Given the description of an element on the screen output the (x, y) to click on. 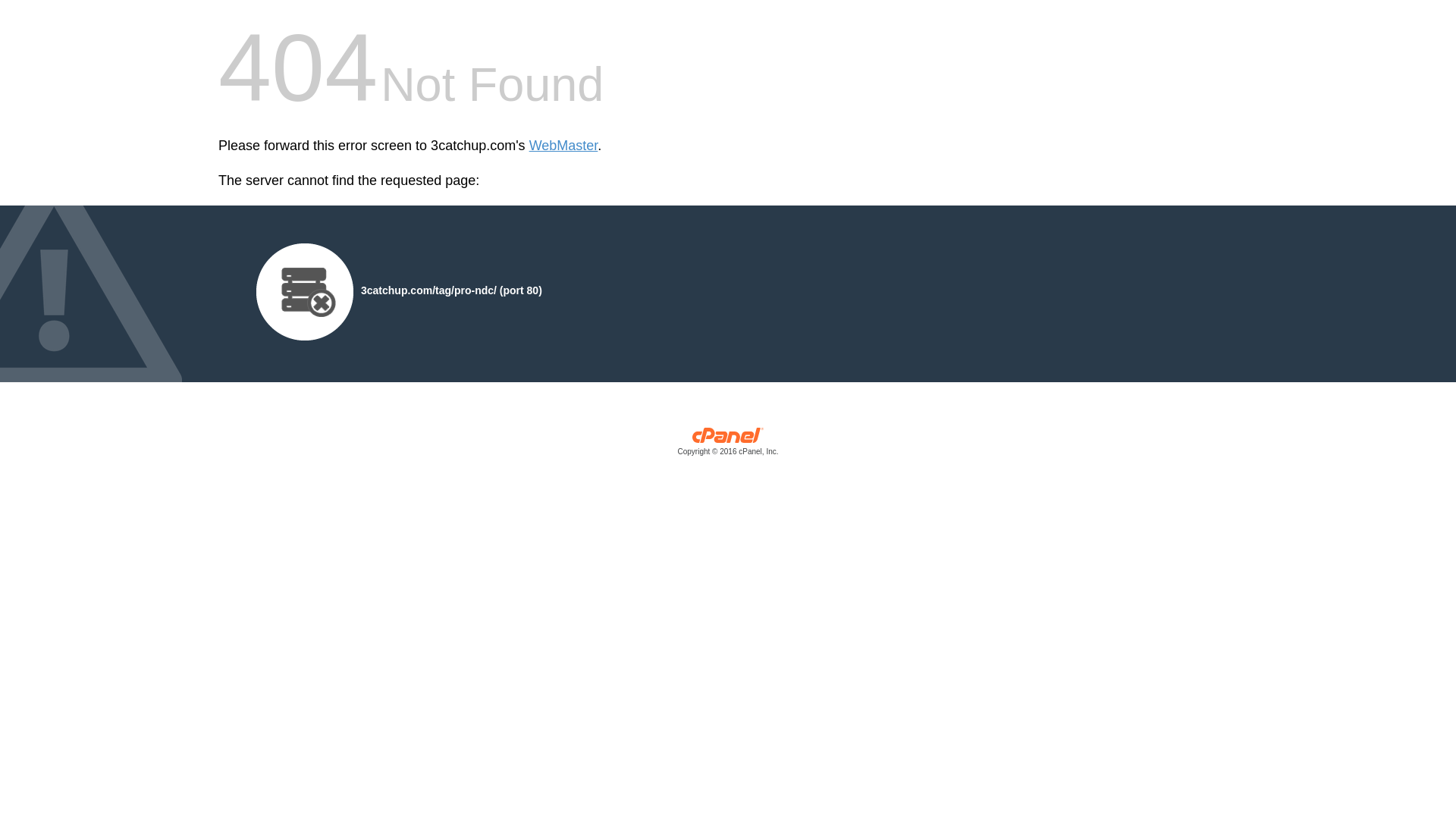
WebMaster Element type: text (563, 145)
